Given the description of an element on the screen output the (x, y) to click on. 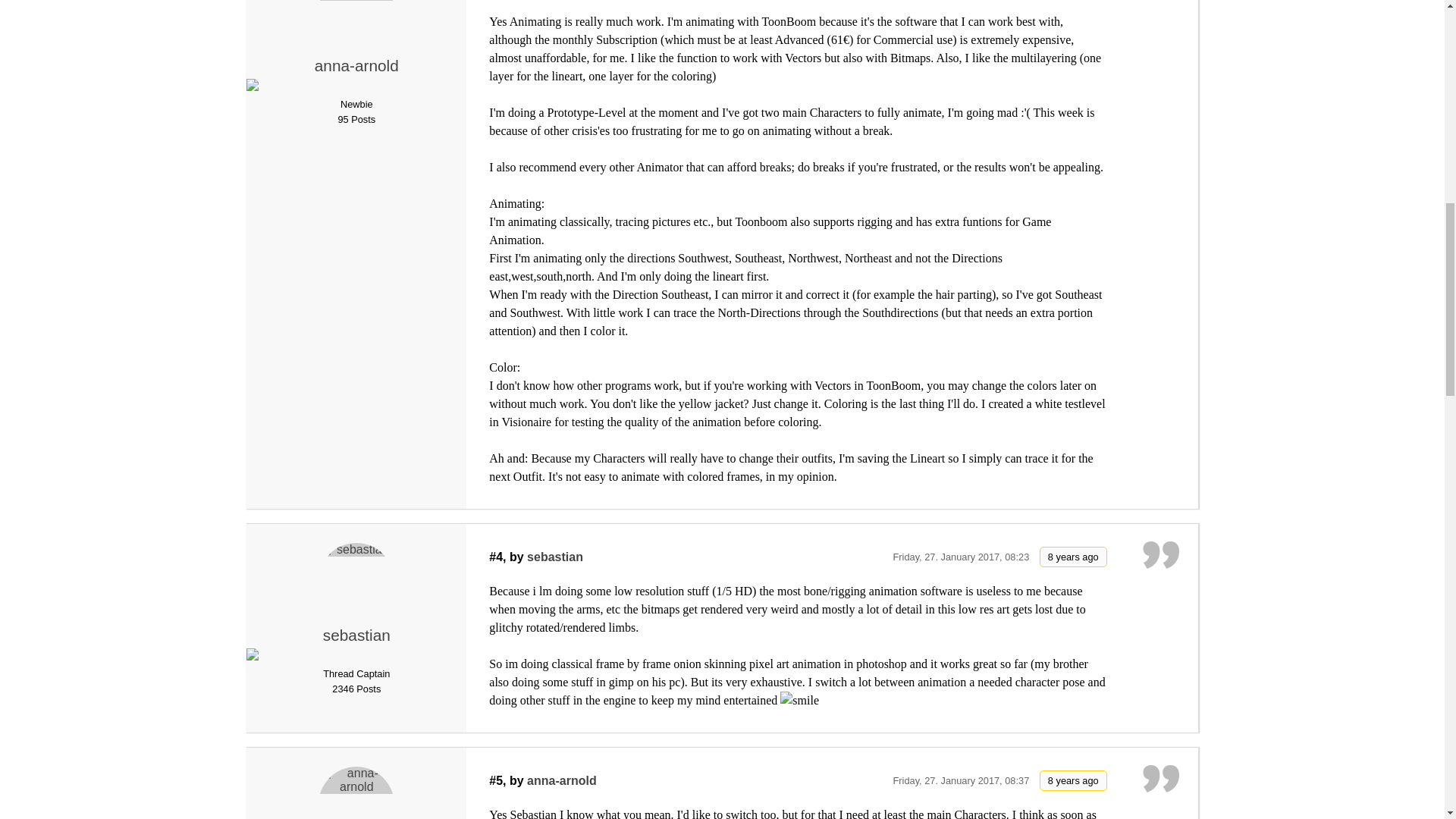
anna-arnold (356, 24)
smile (799, 700)
Quote (1160, 3)
anna-arnold (356, 65)
sebastian (356, 580)
